Given the description of an element on the screen output the (x, y) to click on. 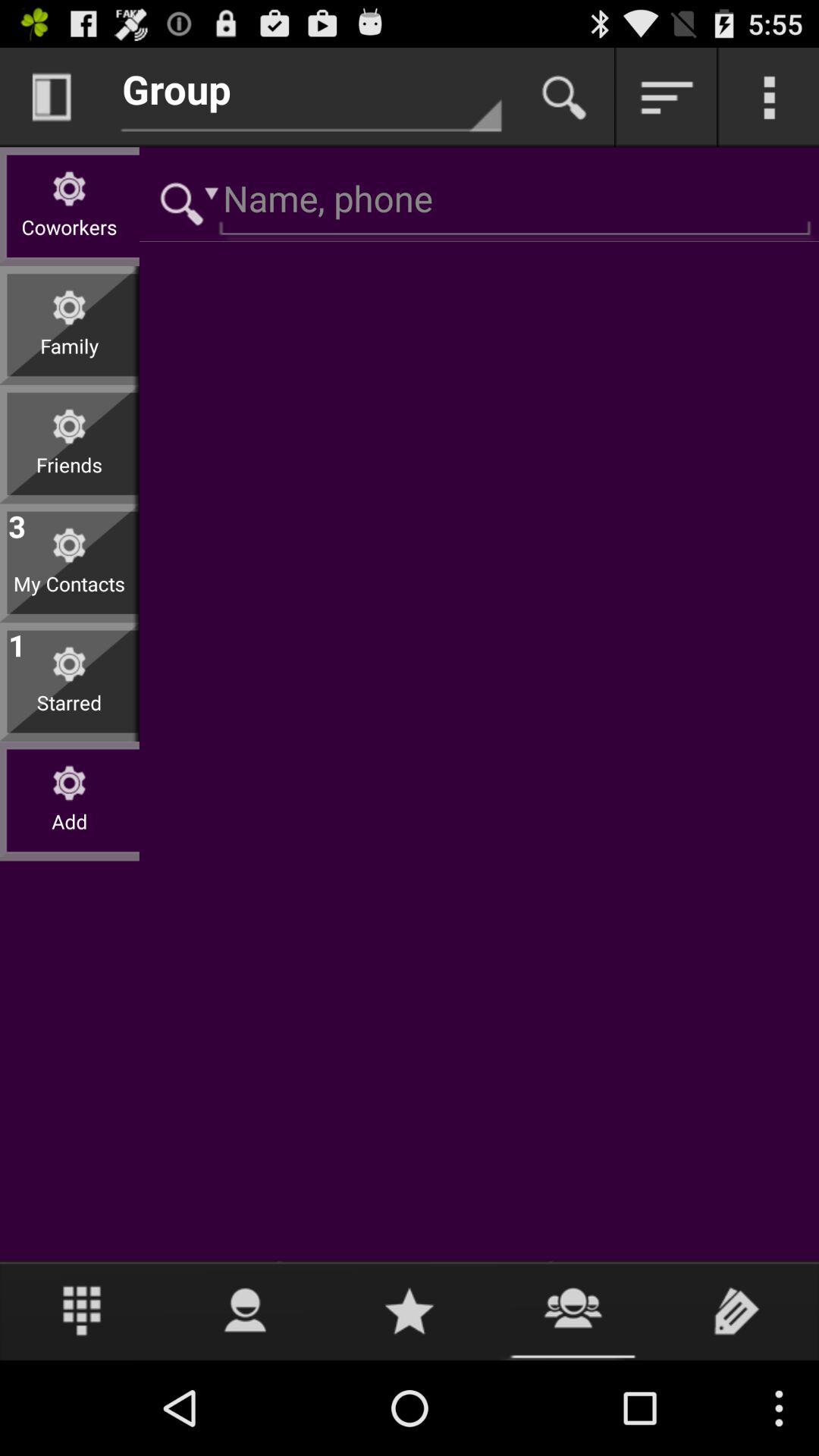
drop down for more options (666, 97)
